Given the description of an element on the screen output the (x, y) to click on. 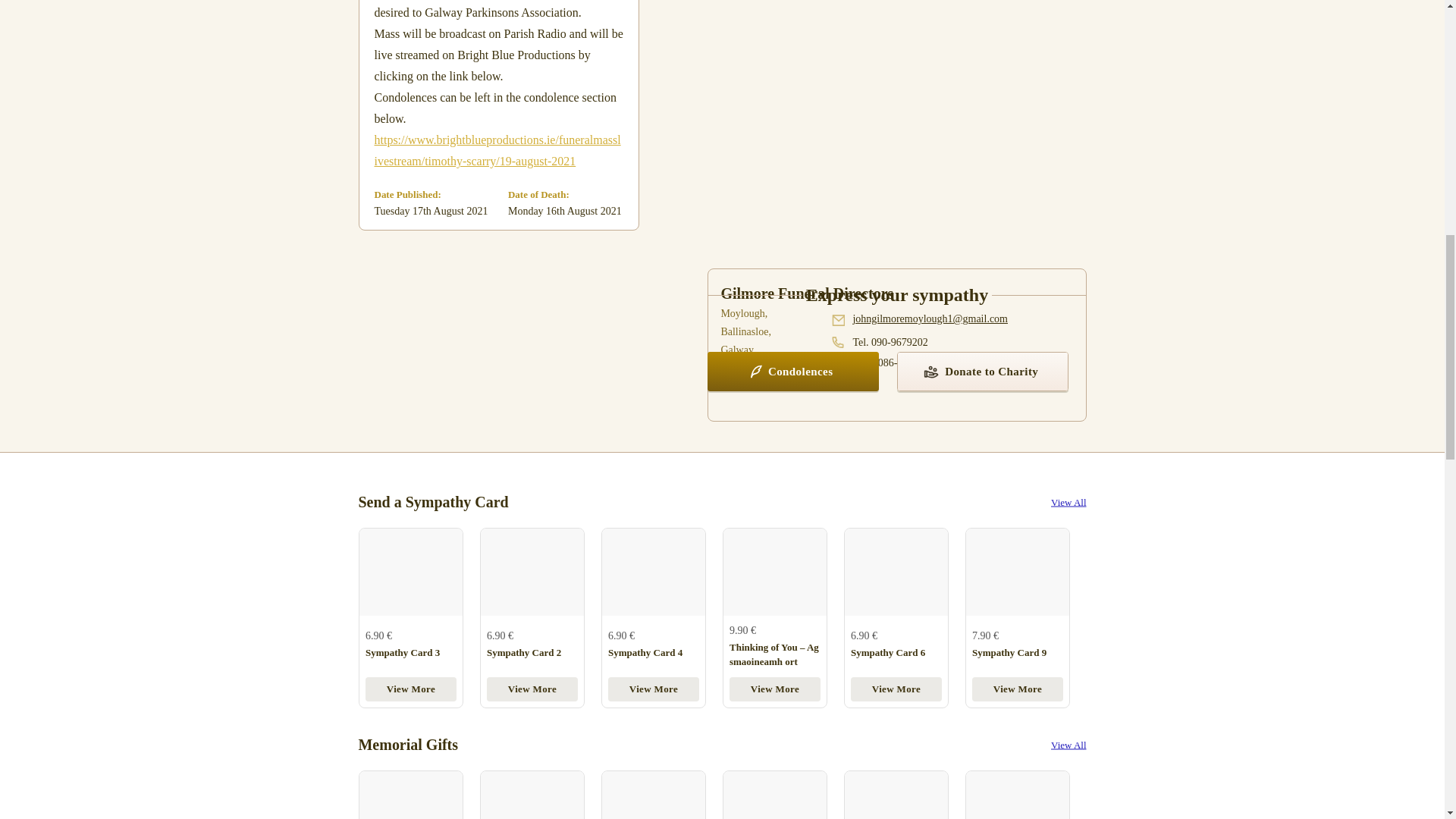
View More (653, 688)
Condolences (793, 371)
View More (532, 688)
Donate to Charity (982, 386)
Donate to Charity (982, 371)
Condolences (793, 386)
View All (1068, 501)
View More (411, 688)
